Given the description of an element on the screen output the (x, y) to click on. 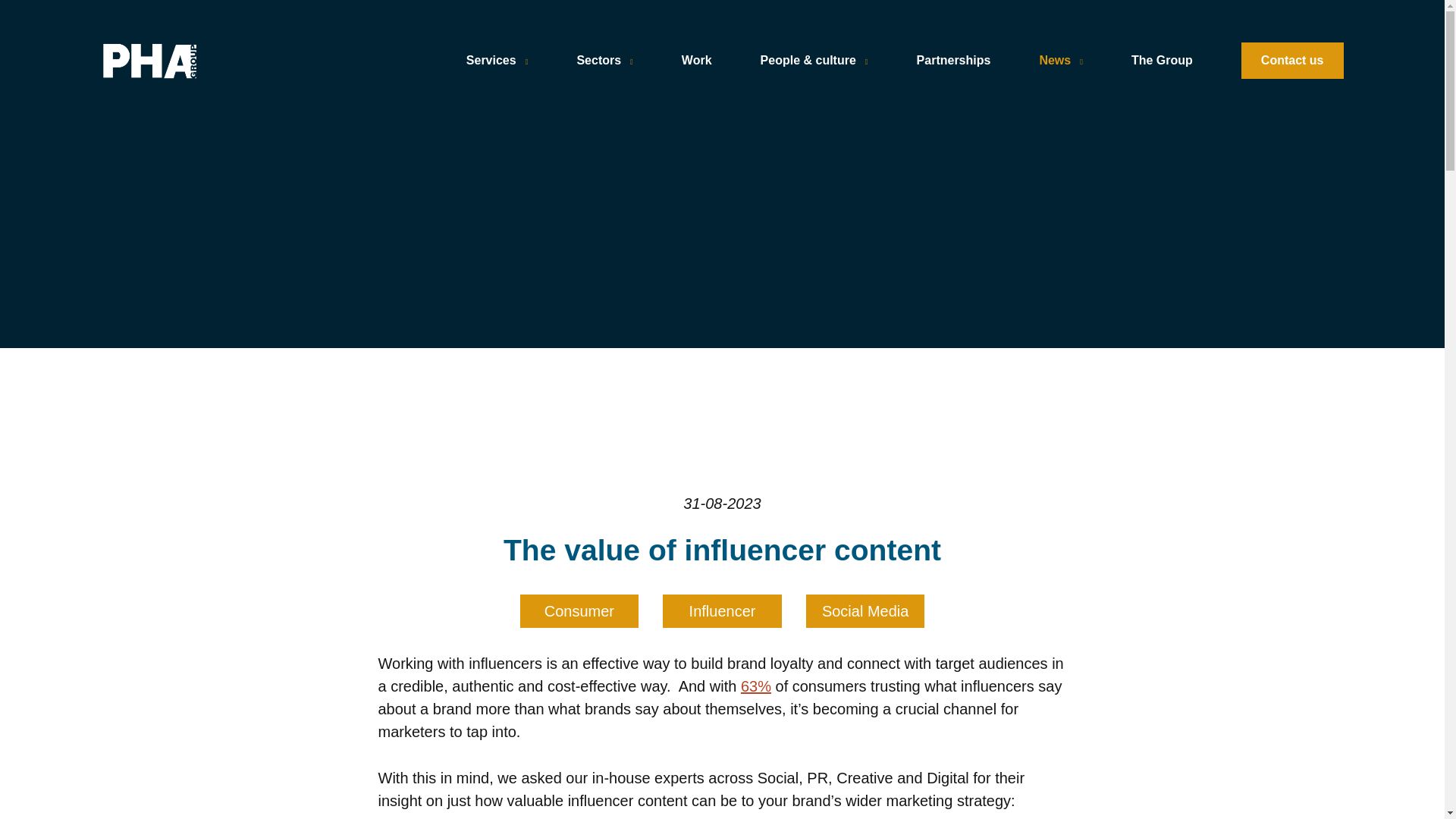
Sectors (603, 60)
The Group (1161, 60)
News (1061, 60)
Work (696, 60)
The PHA Group (199, 60)
Partnerships (954, 60)
Services (496, 60)
Contact us (1292, 60)
